Given the description of an element on the screen output the (x, y) to click on. 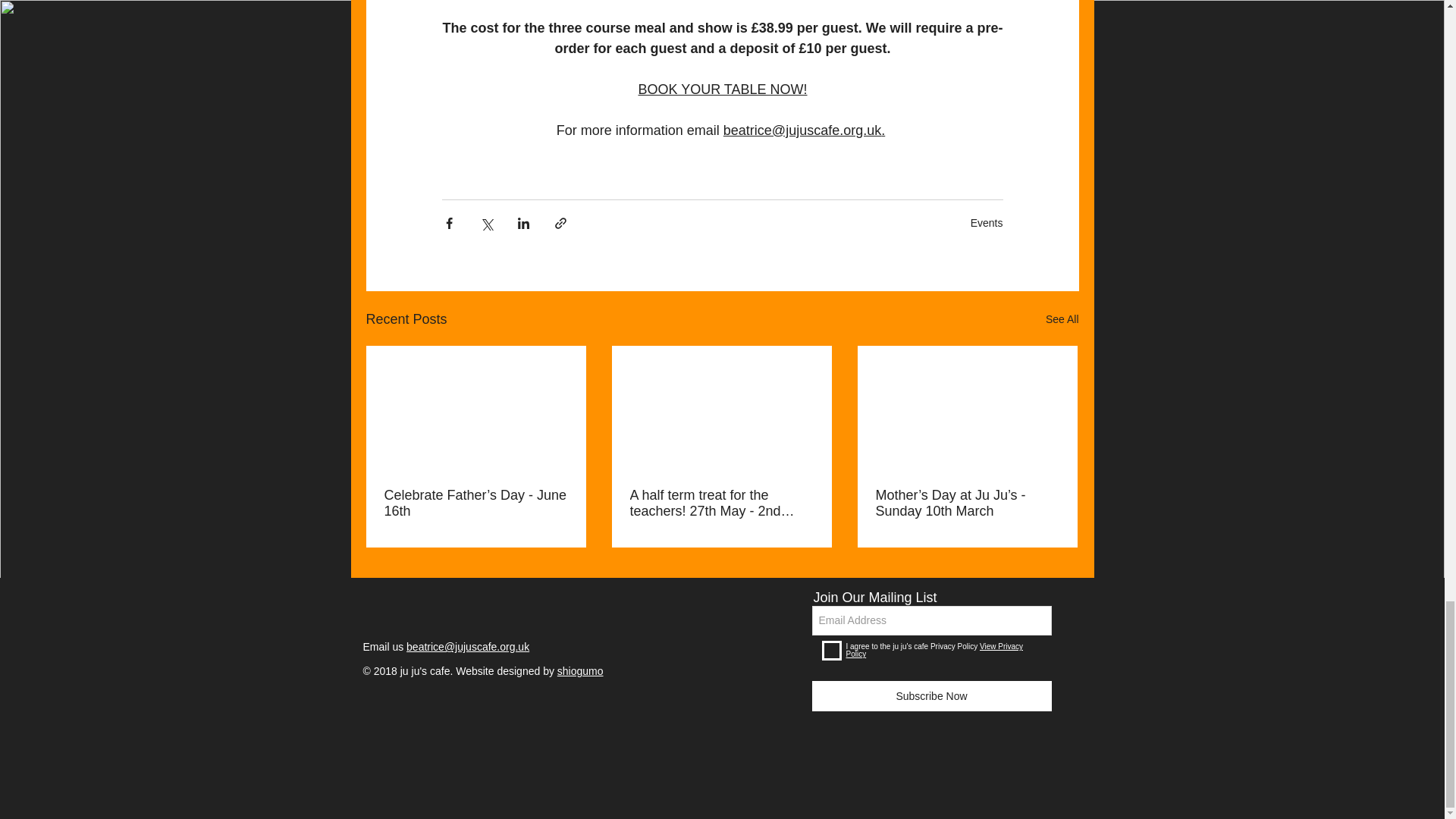
shiogumo (580, 671)
See All (1061, 319)
View Privacy Policy (934, 650)
Events (987, 222)
BOOK YOUR TABLE NOW! (721, 89)
A half term treat for the teachers! 27th May - 2nd June (720, 503)
Subscribe Now (930, 695)
